Given the description of an element on the screen output the (x, y) to click on. 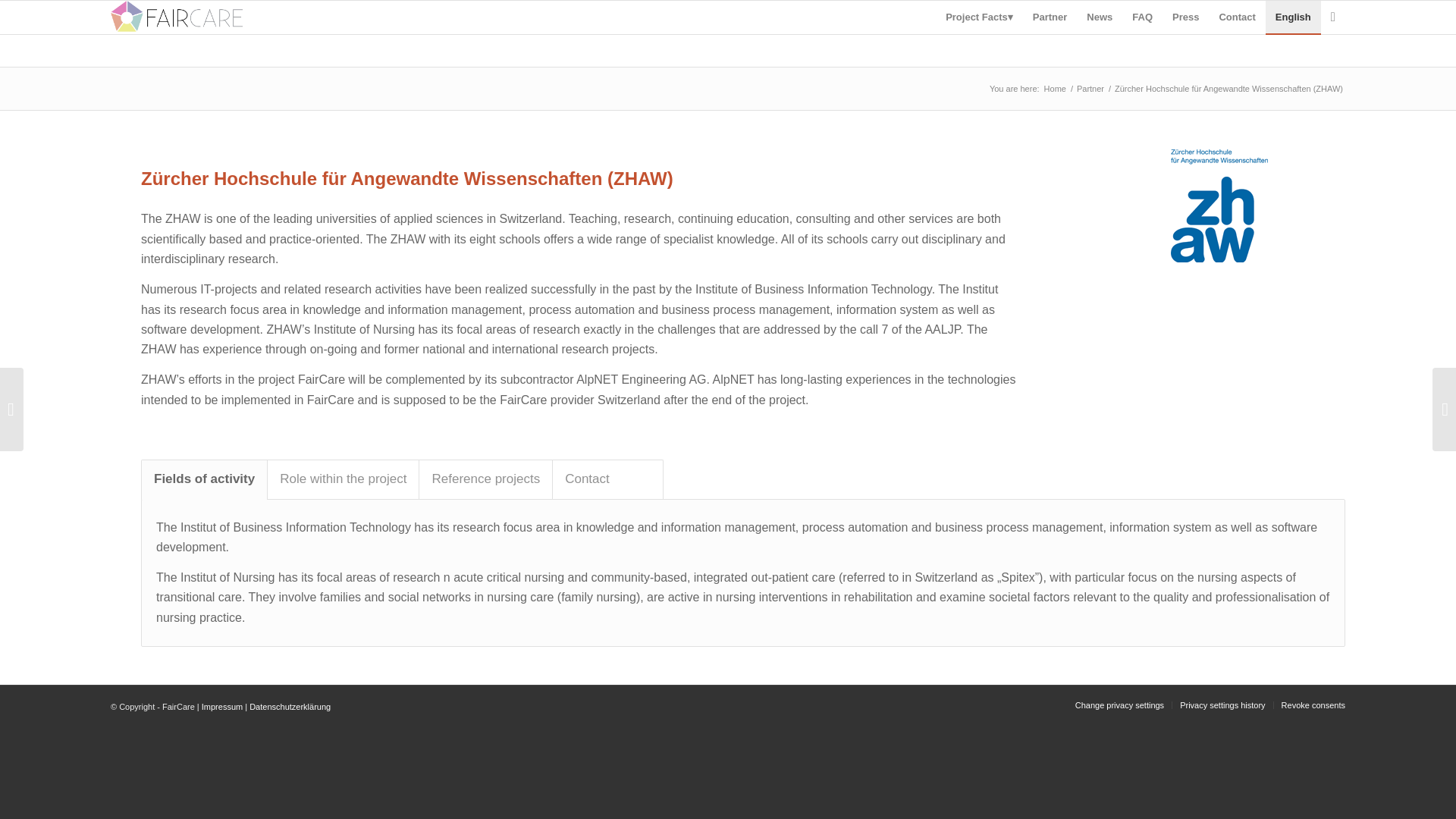
Partner (1090, 89)
English (1292, 17)
zhaw-250x150 (1218, 205)
English (1292, 17)
Impressum (222, 706)
Contact (1236, 17)
FairCare (1055, 89)
News (1099, 17)
Home (1055, 89)
Partner (1090, 89)
Change privacy settings (1119, 705)
FAQ (1141, 17)
Press (1184, 17)
Revoke consents (1313, 705)
Privacy settings history (1222, 705)
